Given the description of an element on the screen output the (x, y) to click on. 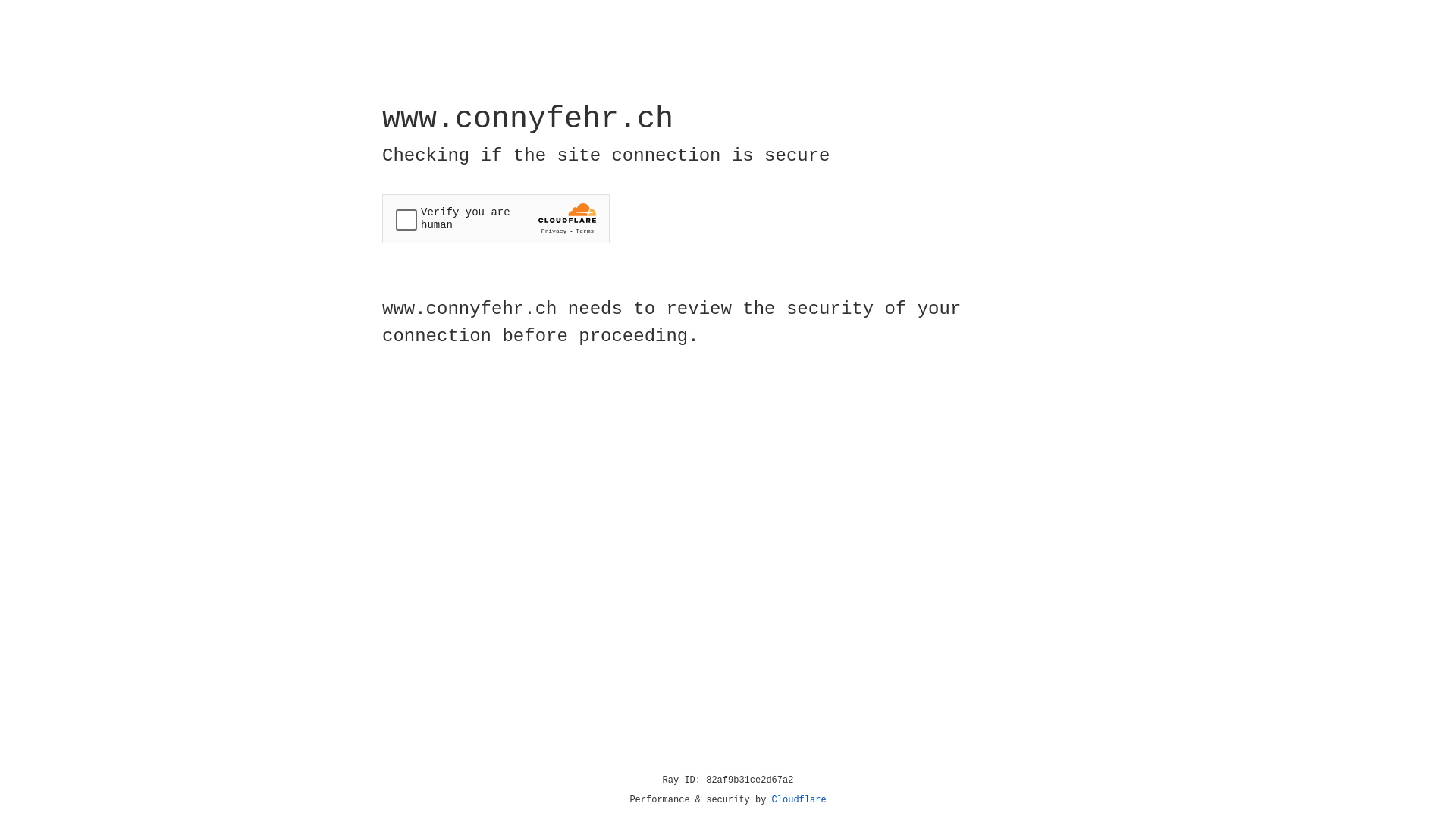
Cloudflare Element type: text (798, 799)
Widget containing a Cloudflare security challenge Element type: hover (495, 218)
